Given the description of an element on the screen output the (x, y) to click on. 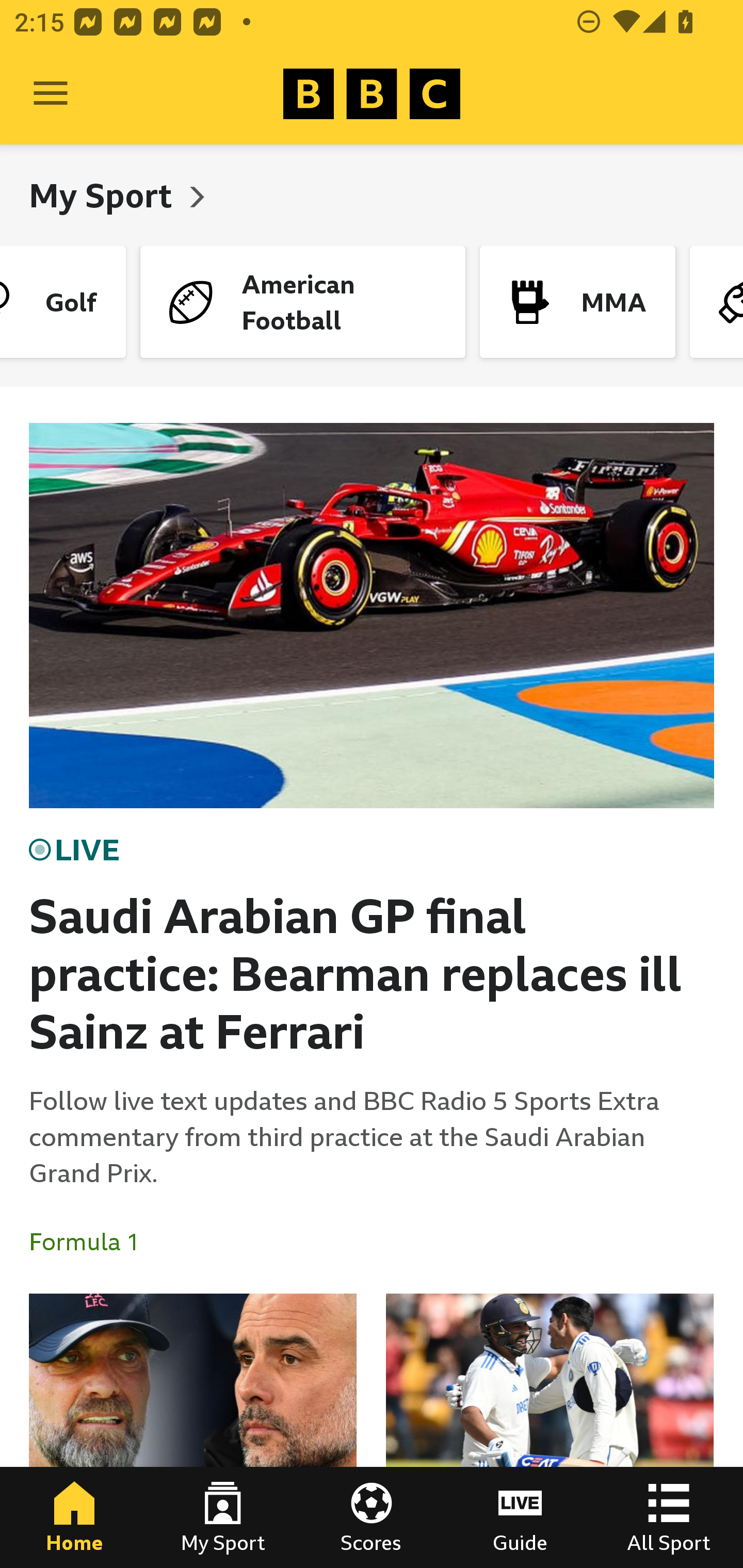
Open Menu (50, 93)
My Sport (104, 195)
Formula 1 In the section Formula 1 (91, 1241)
India build big lead despite Stokes' return wicket (549, 1430)
My Sport (222, 1517)
Scores (371, 1517)
Guide (519, 1517)
All Sport (668, 1517)
